Given the description of an element on the screen output the (x, y) to click on. 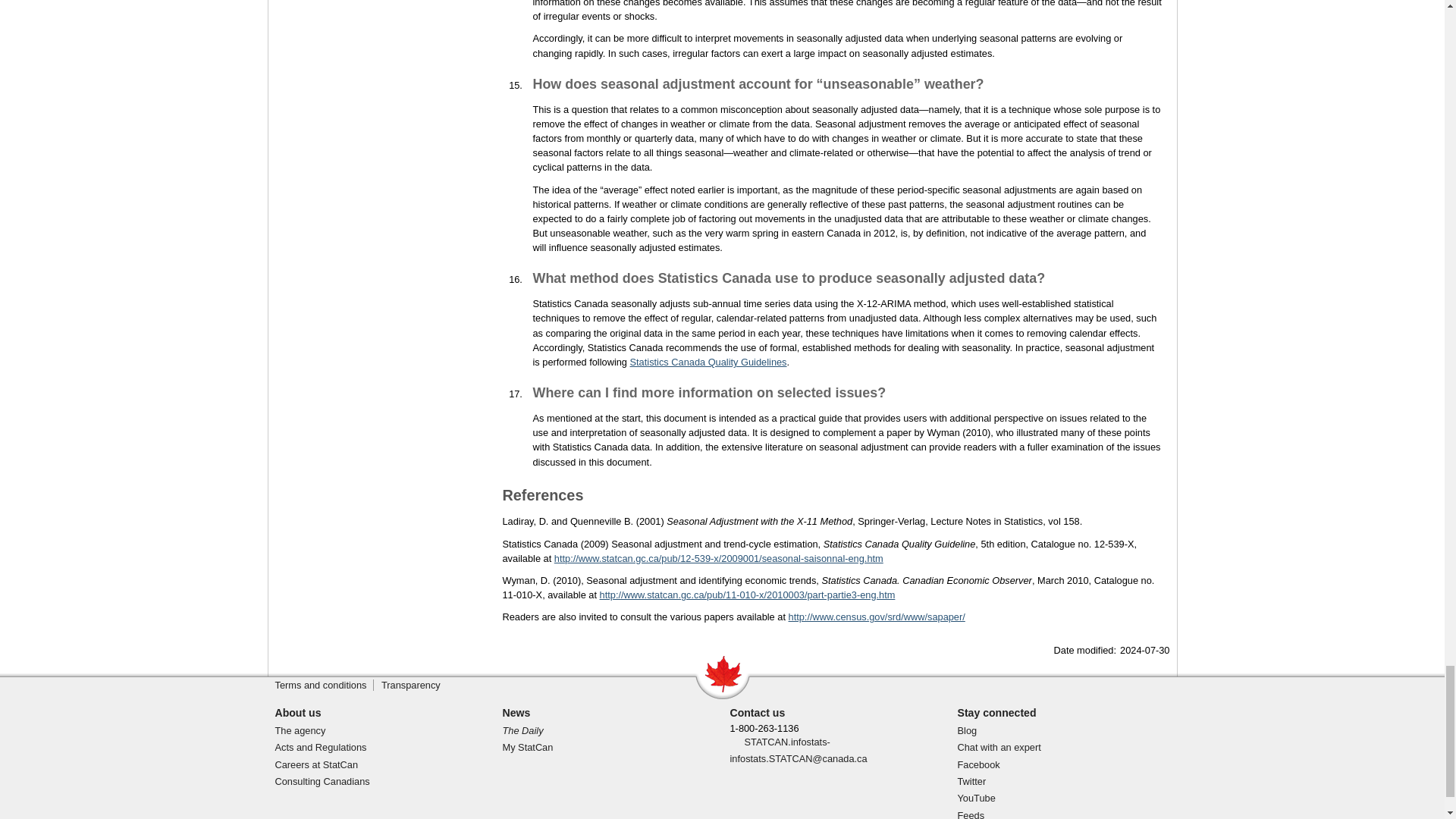
Terms and conditions (320, 685)
The agency (299, 730)
Acts and Regulations (320, 747)
Transparency (411, 685)
Consulting Canadians (322, 781)
About us (297, 712)
The Daily (522, 730)
News (515, 712)
Careers at StatCan (316, 764)
